Given the description of an element on the screen output the (x, y) to click on. 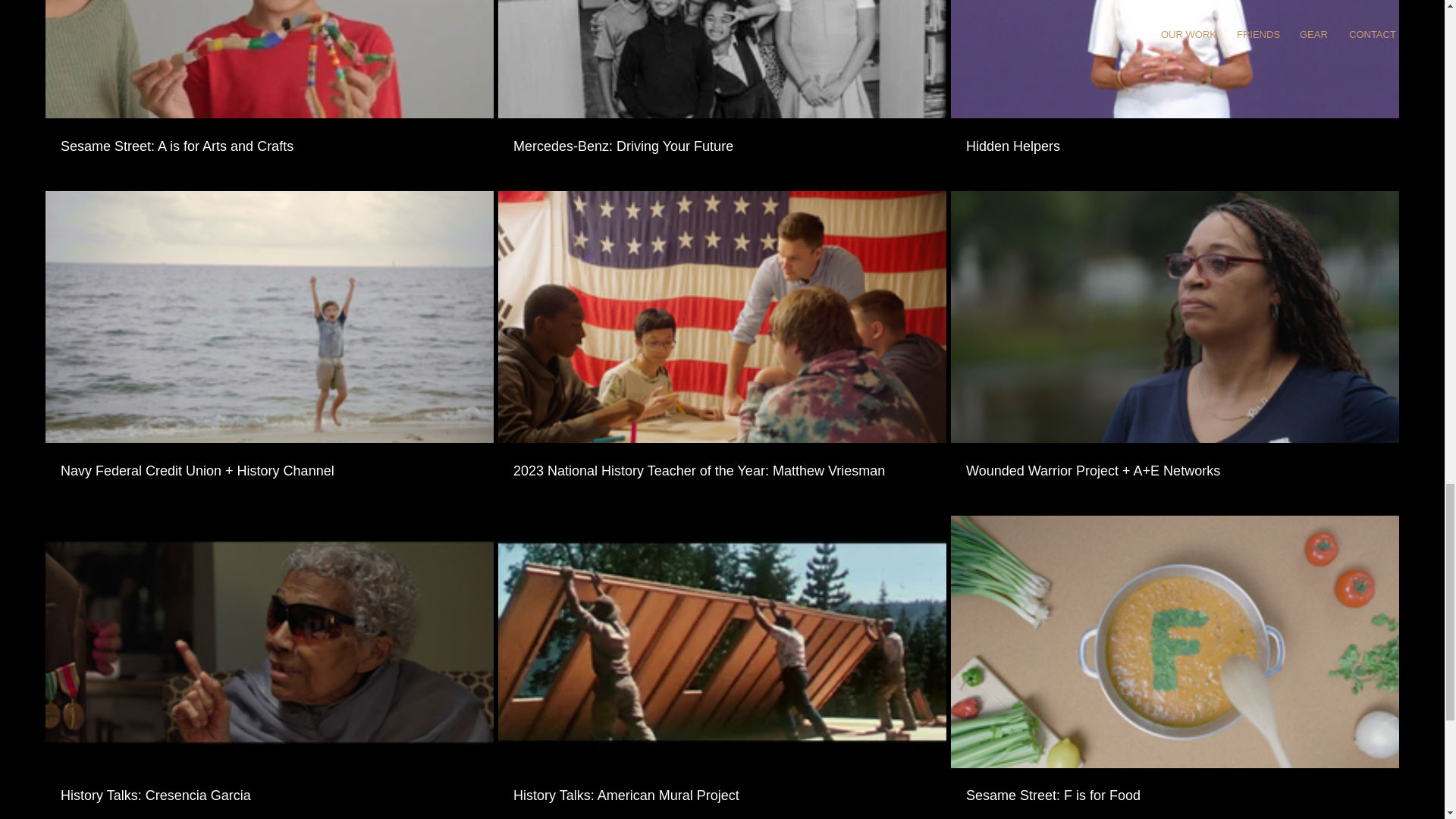
History Talks: Cresencia Garcia (269, 786)
Hidden Helpers (1175, 146)
History Talks: American Mural Project (721, 786)
2023 National History Teacher of the Year: Matthew Vriesman (722, 471)
Mercedes-Benz: Driving Your Future (722, 146)
Sesame Street: F is for Food (1174, 786)
History Talks: American Mural Project (722, 795)
Sesame Street: F is for Food (1175, 795)
Mercedes-Benz: Driving Your Future (721, 136)
Sesame Street: A is for Arts and Crafts (269, 136)
